Given the description of an element on the screen output the (x, y) to click on. 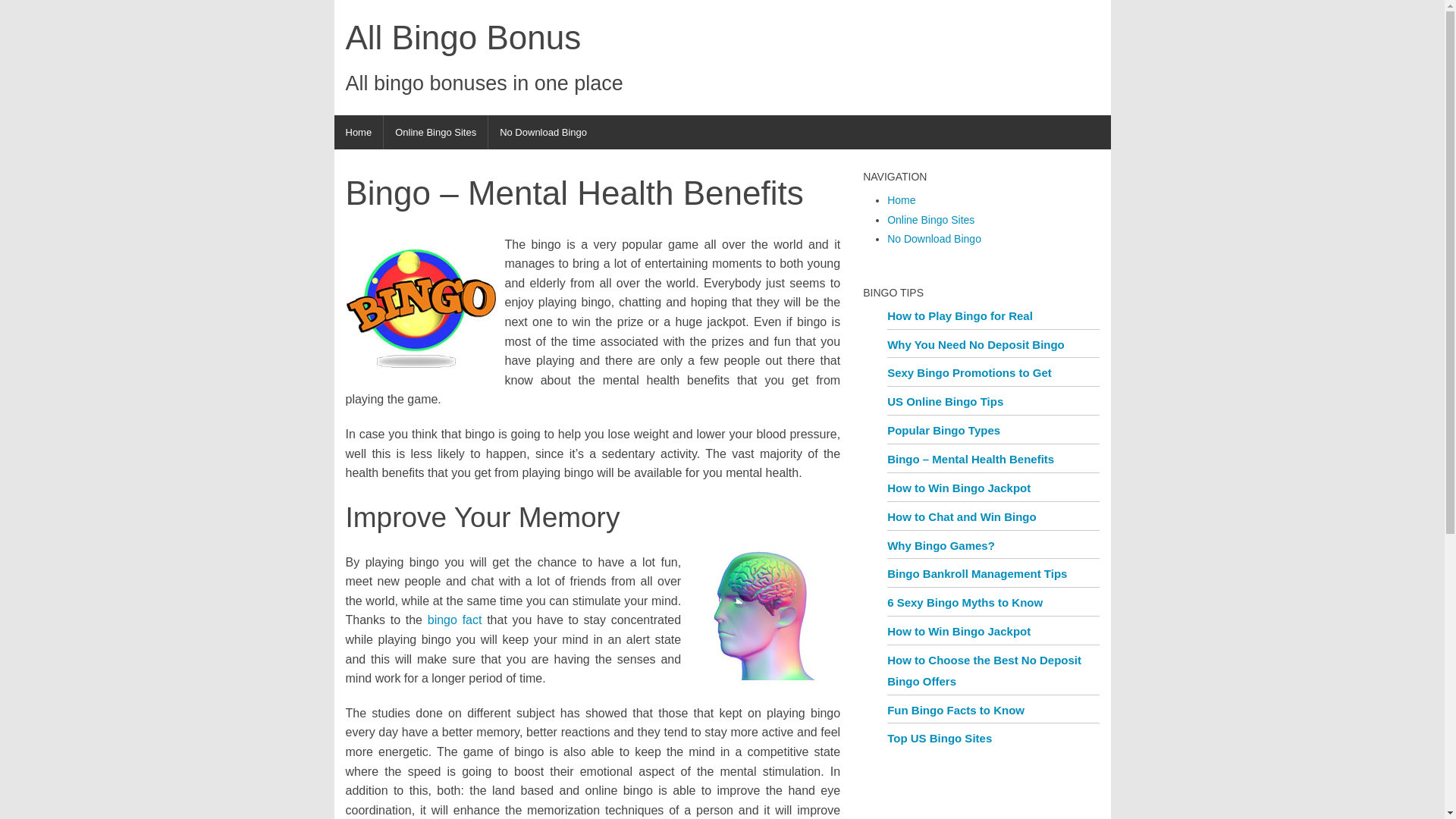
Permanent link to Why Bingo Games? (940, 545)
How to Chat and Win Bingo (961, 516)
Online Bingo Sites (435, 132)
All Bingo Bonus (484, 38)
Home (357, 132)
Why You Need No Deposit Bingo (975, 344)
All Bingo Bonus (357, 132)
Popular Bingo Types (943, 430)
Permanent link to Bingo Bankroll Management Tips (976, 573)
No Download Bingo (542, 132)
